Given the description of an element on the screen output the (x, y) to click on. 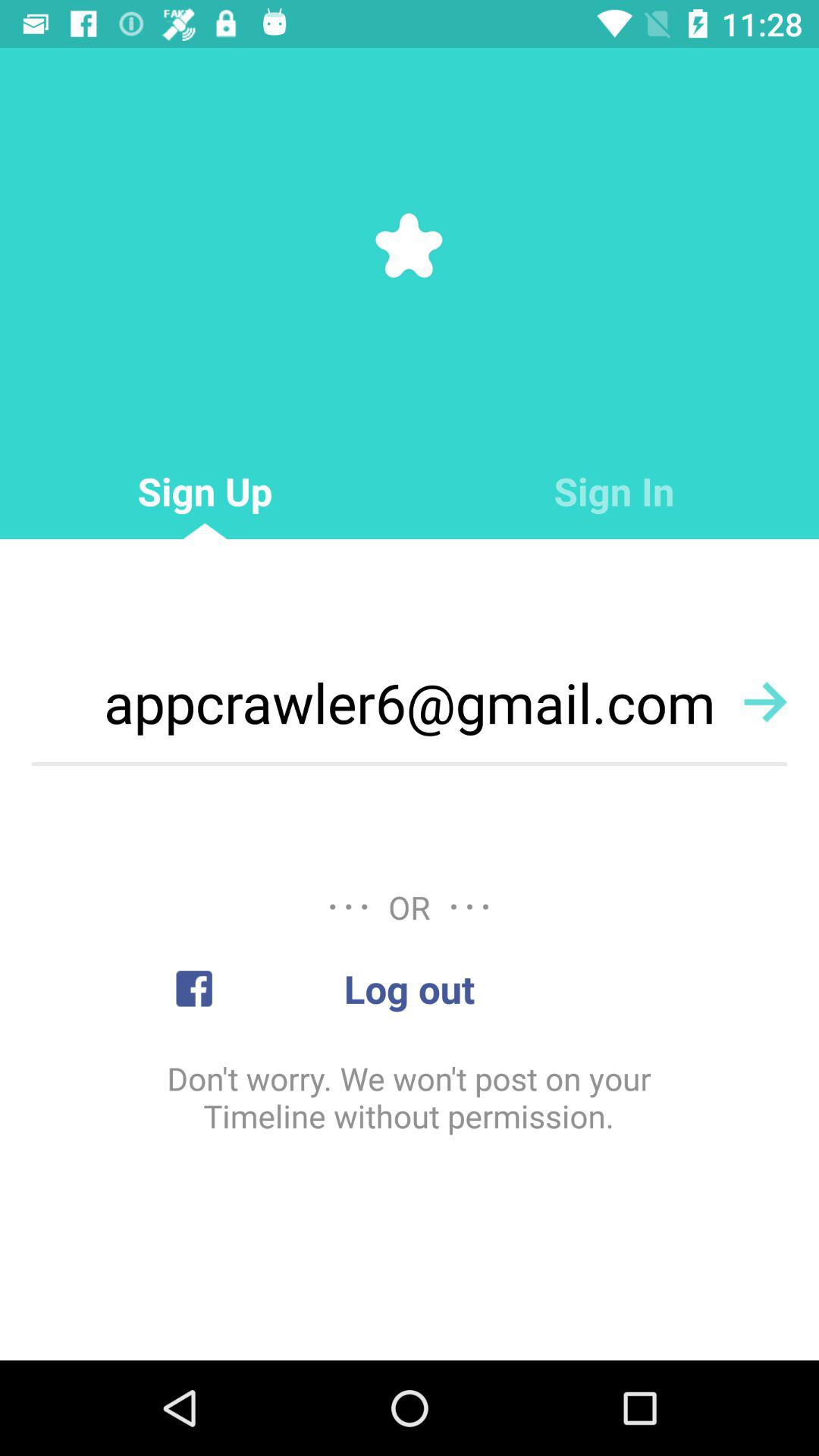
tap icon above the don t worry item (409, 988)
